Given the description of an element on the screen output the (x, y) to click on. 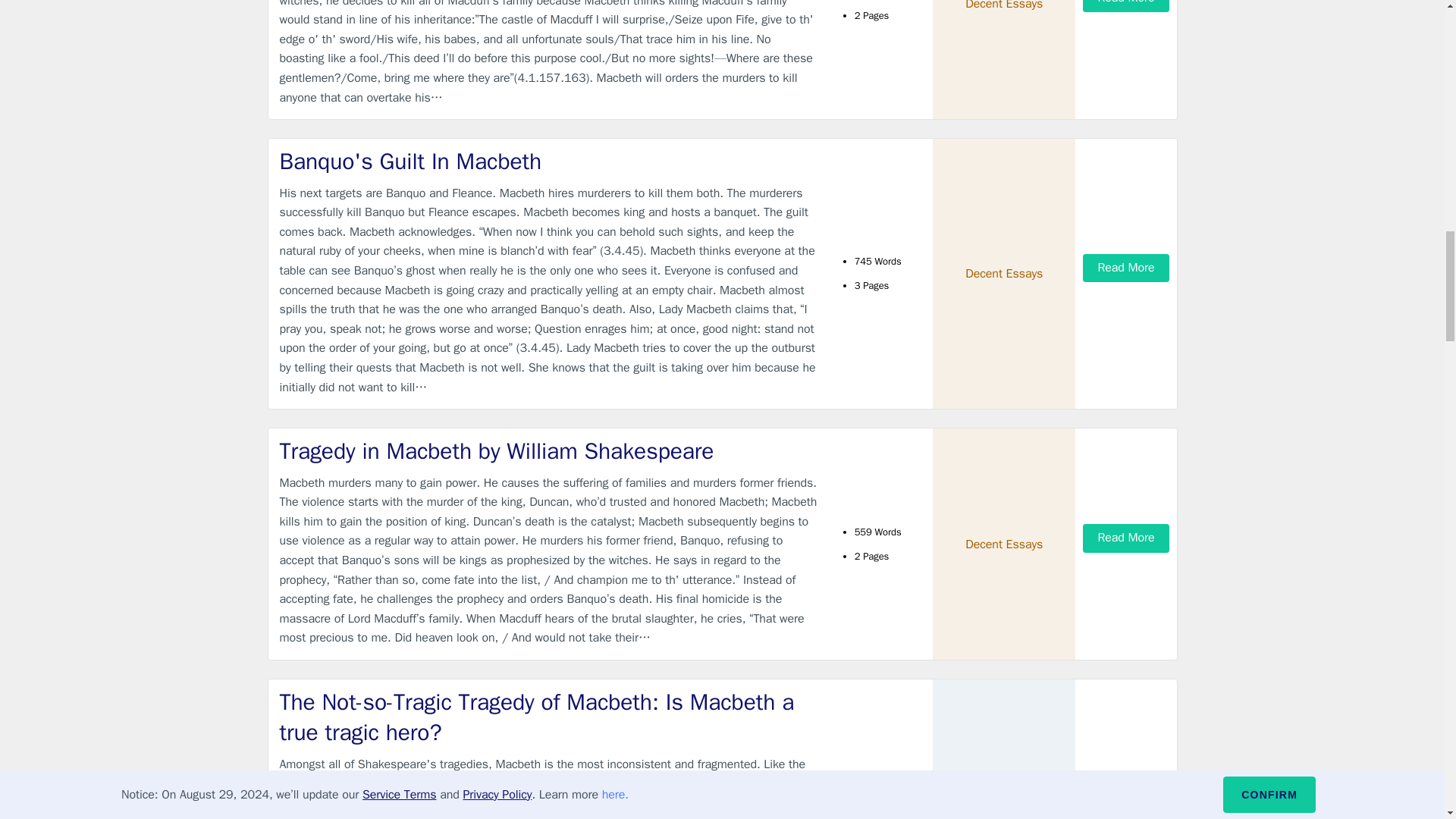
Banquo's Guilt In Macbeth (548, 161)
Tragedy in Macbeth by William Shakespeare (548, 450)
Read More (1126, 6)
Read More (1126, 267)
Read More (1126, 795)
Read More (1126, 538)
